Given the description of an element on the screen output the (x, y) to click on. 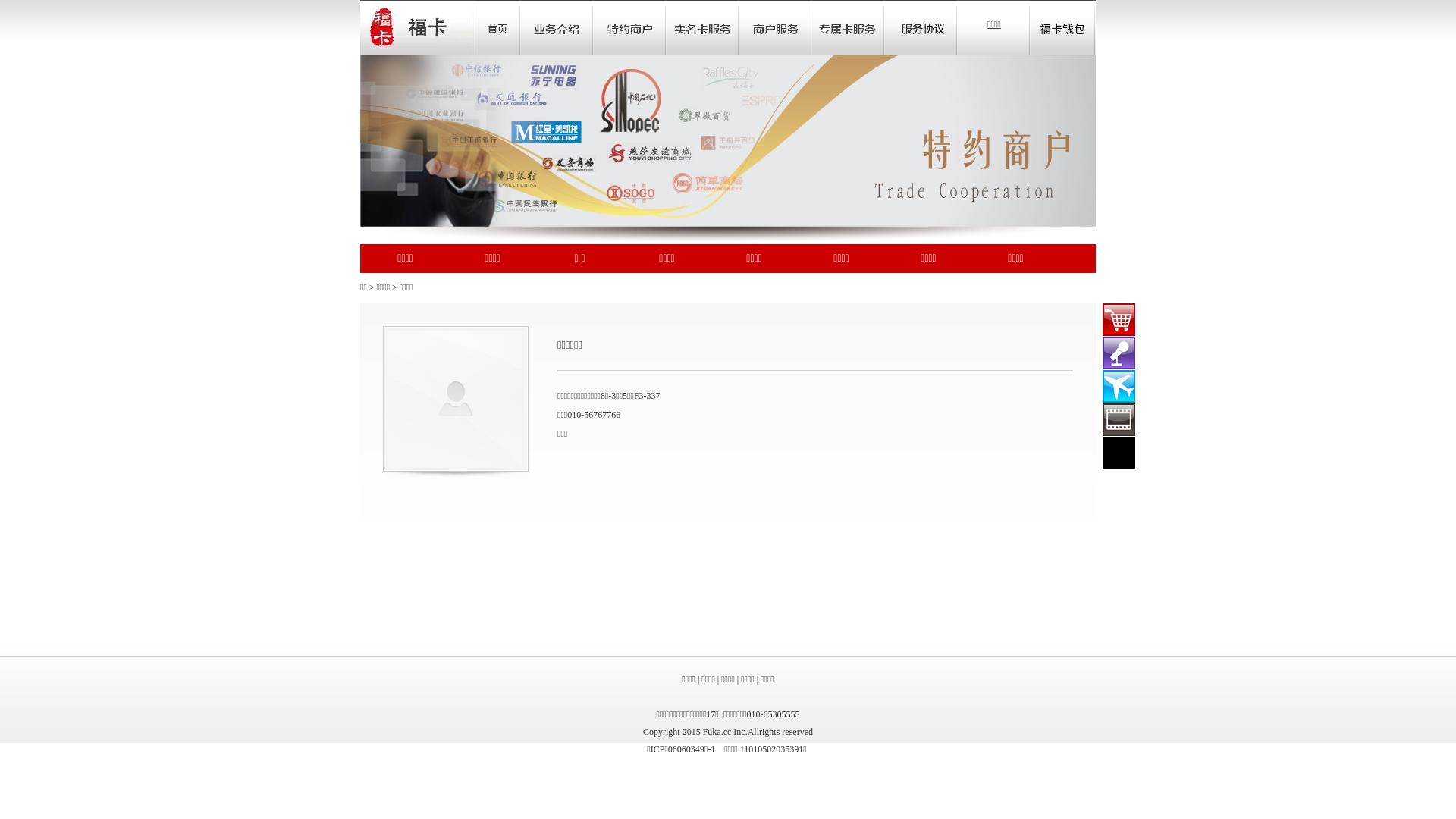
Store Locator Element type: text (847, 27)
Sale Element type: text (629, 27)
Store Locator Element type: text (920, 27)
Store Locator Element type: text (774, 27)
Community Element type: text (701, 27)
